Given the description of an element on the screen output the (x, y) to click on. 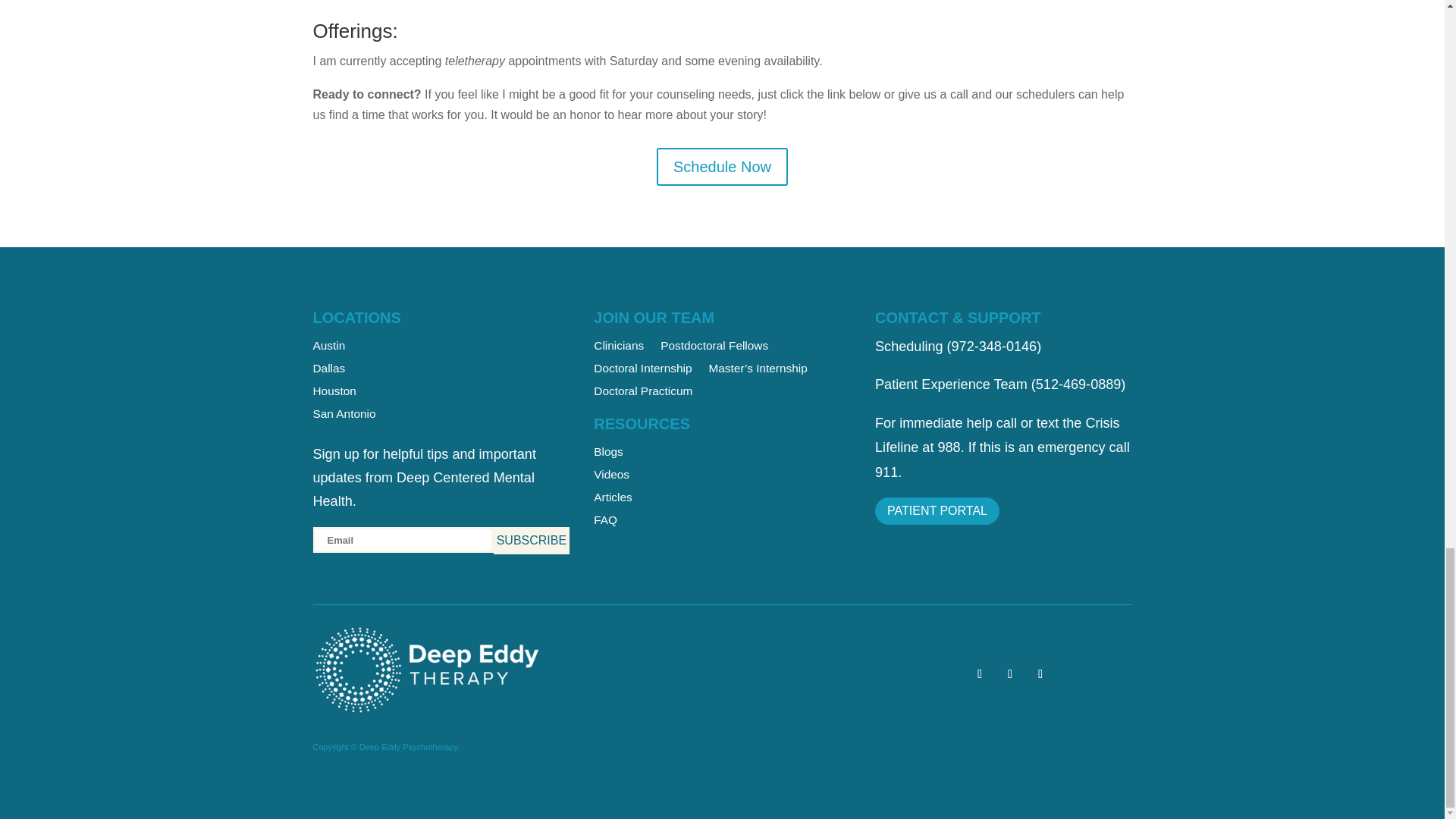
White Horizontal (426, 669)
Follow on Youtube (979, 673)
Follow on Instagram (1039, 673)
Follow on Facebook (1009, 673)
